Given the description of an element on the screen output the (x, y) to click on. 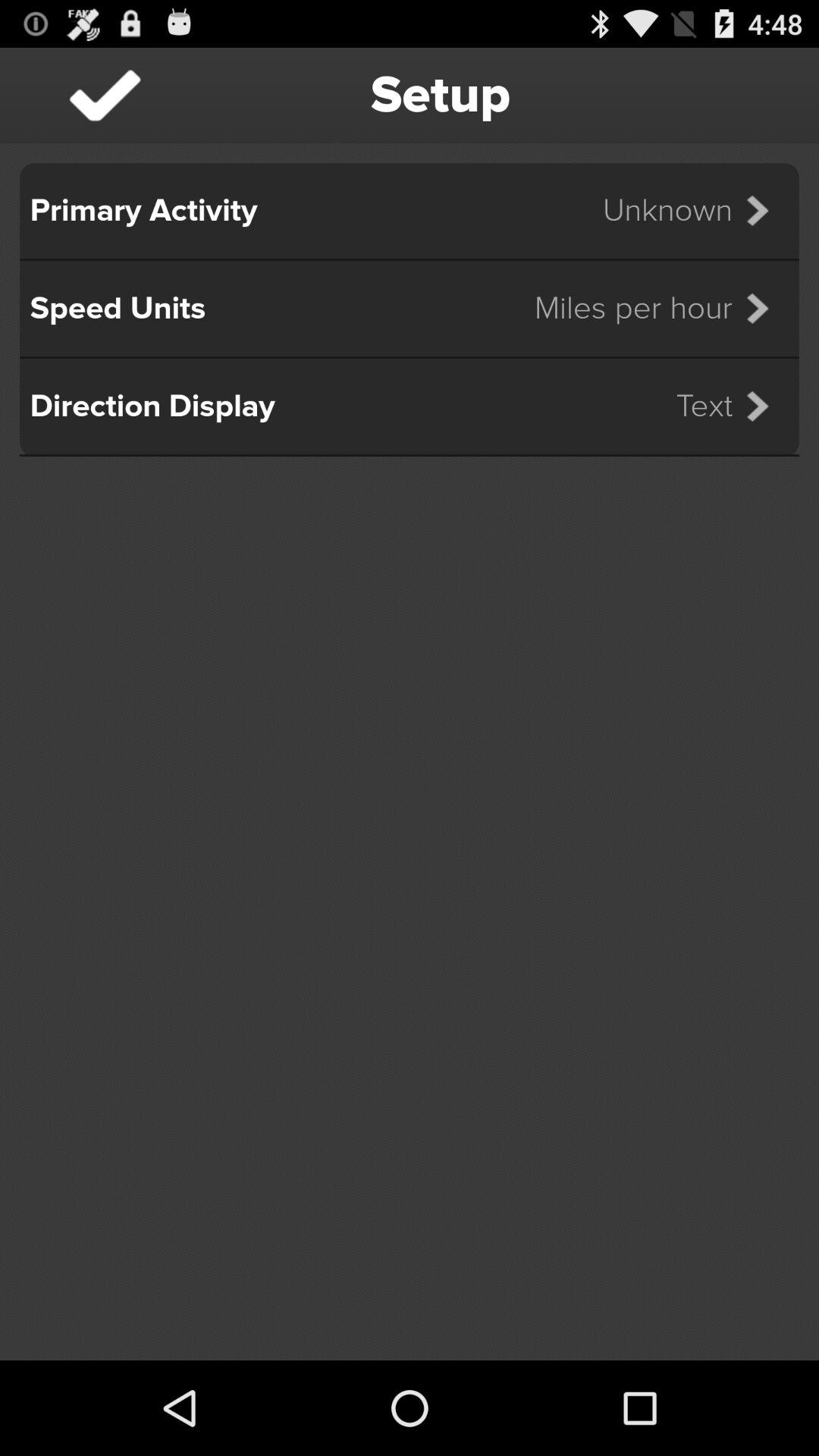
open the icon above primary activity item (104, 95)
